Given the description of an element on the screen output the (x, y) to click on. 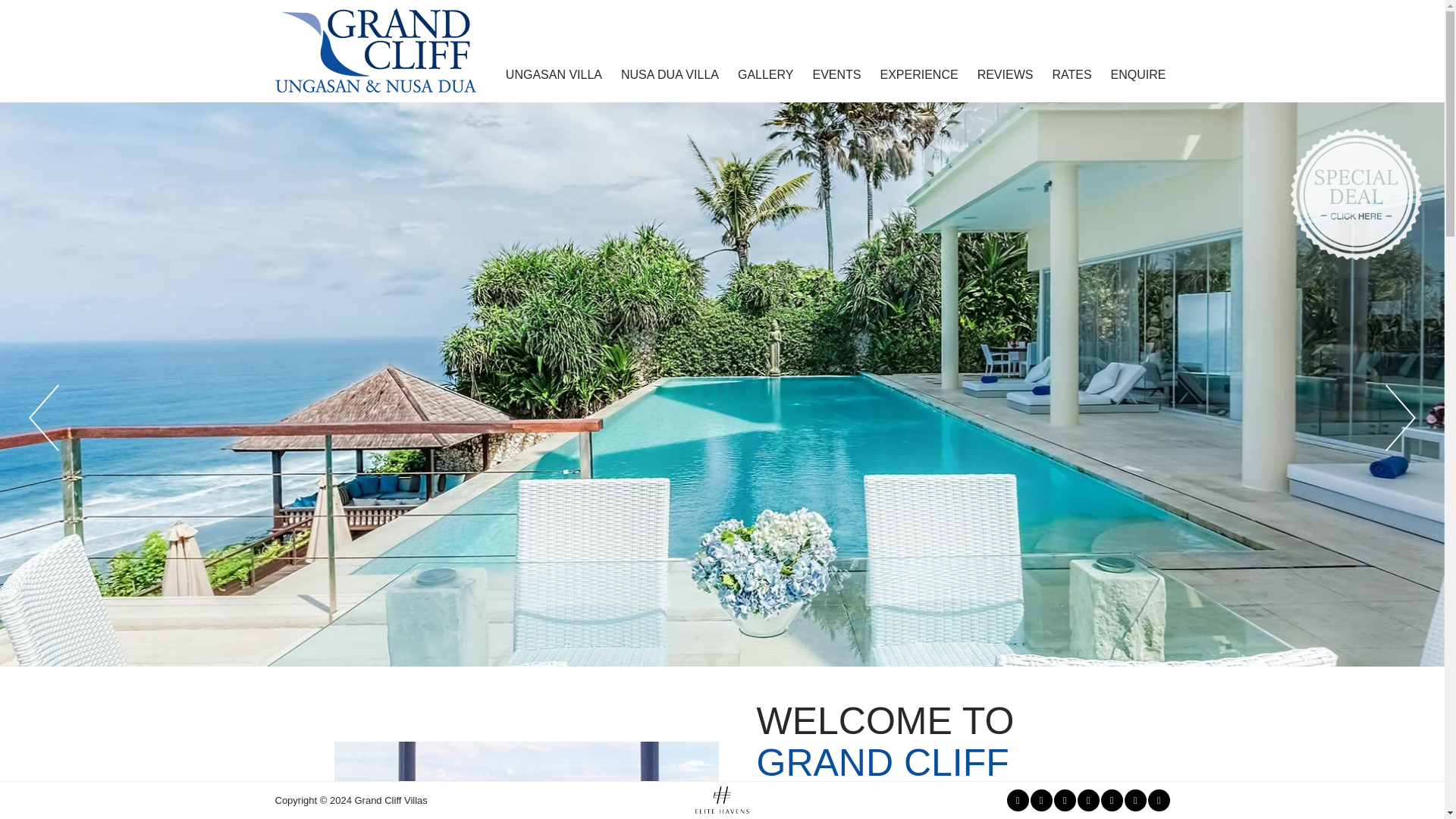
Facebook (1018, 800)
EVENTS (836, 74)
RATES (1071, 74)
Linkedin (1111, 800)
NUSA DUA VILLA (669, 74)
UNGASAN VILLA (553, 74)
Pinterest (1040, 800)
Twitter (1088, 800)
EXPERIENCE (919, 74)
Instagram (1064, 800)
REVIEWS (1005, 74)
TikTok (1159, 800)
GALLERY (765, 74)
Youtube (1134, 800)
ENQUIRE (1138, 74)
